Given the description of an element on the screen output the (x, y) to click on. 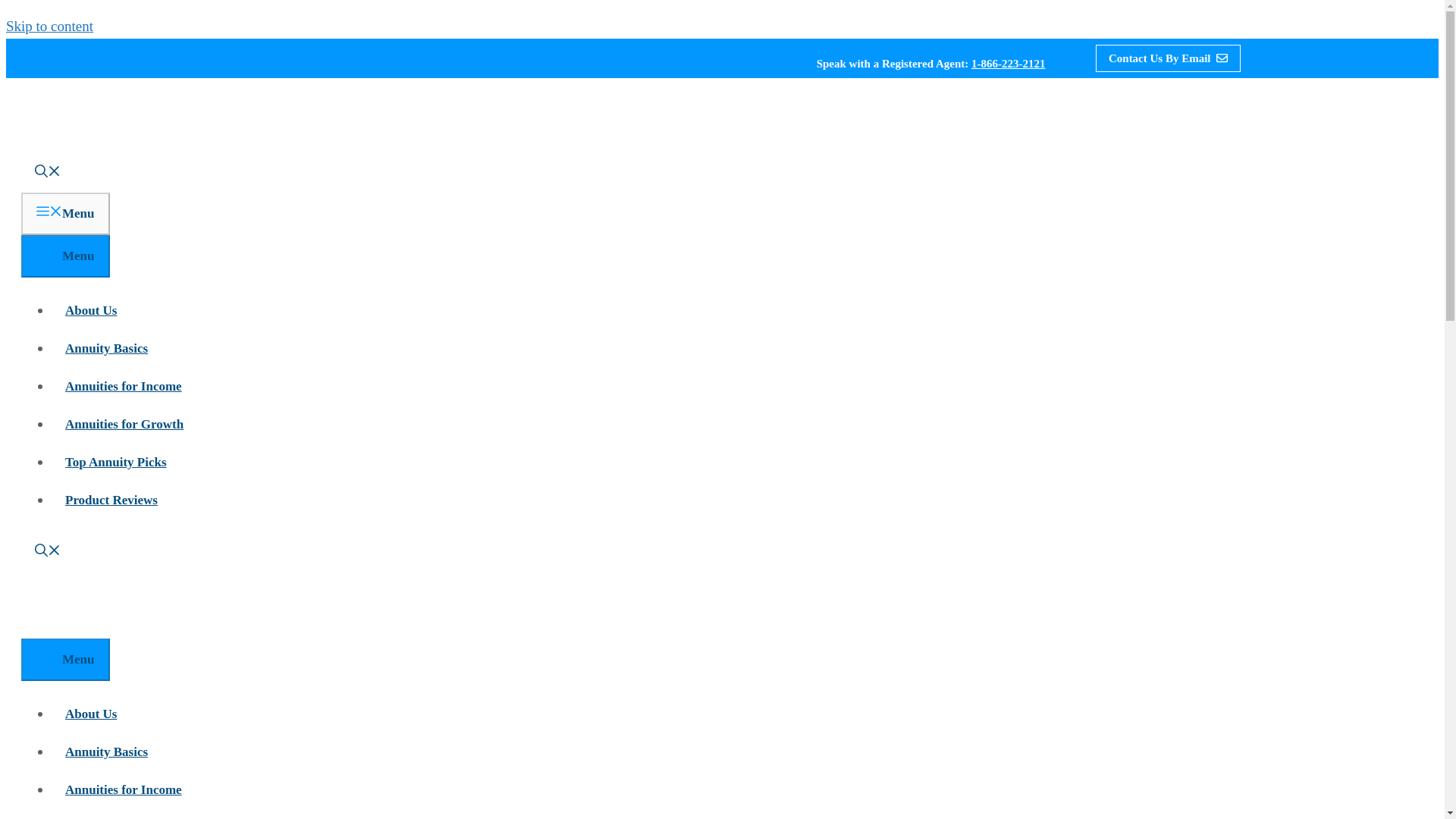
Product Reviews (110, 499)
Menu (65, 659)
Menu (65, 213)
Skip to content (49, 26)
About Us (90, 713)
Annuity Basics (105, 751)
Contact Us By Email (1168, 58)
Top Annuity Picks (115, 462)
Skip to content (49, 26)
Menu (65, 256)
Annuity Basics (105, 348)
Annuity FYI (104, 626)
About Us (90, 310)
Annuities for Income (122, 789)
Annuities for Growth (123, 423)
